Given the description of an element on the screen output the (x, y) to click on. 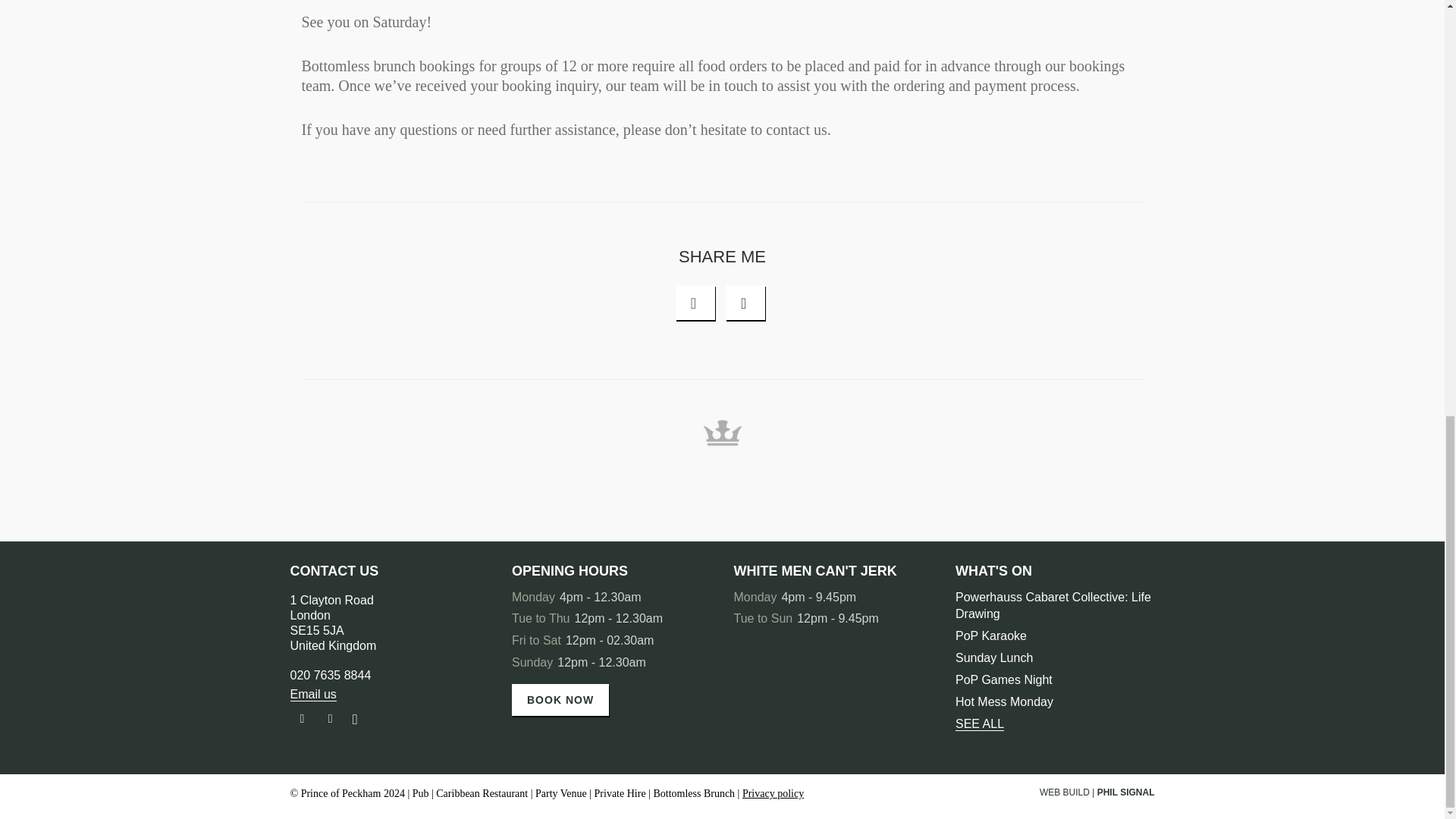
Make a booking (560, 699)
Send (715, 61)
Follow us on Instagram (358, 718)
Powerhauss Cabaret Collective: Life Drawing (1053, 605)
Follow us on Twitter (332, 622)
SEE ALL (330, 718)
020 7635 8844 (979, 724)
Email us (330, 675)
PoP Games Night (312, 694)
Privacy Policy (1003, 679)
Hot Mess Monday (772, 793)
Privacy policy (1003, 701)
PHIL SIGNAL (772, 793)
Show on Google Maps (1125, 792)
